Given the description of an element on the screen output the (x, y) to click on. 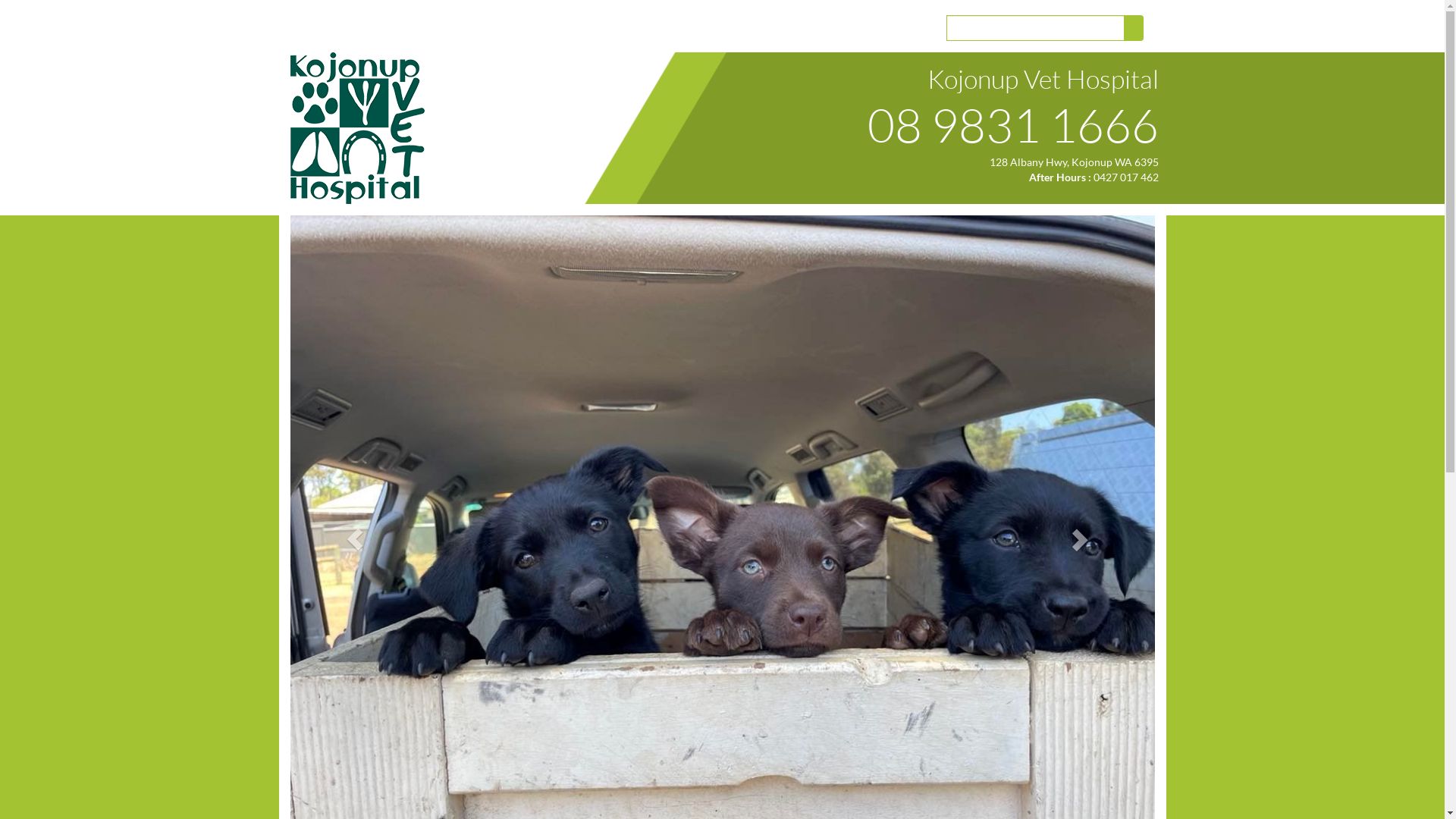
08 9831 1666 Element type: text (1012, 124)
0427 017 462 Element type: text (1125, 176)
